Given the description of an element on the screen output the (x, y) to click on. 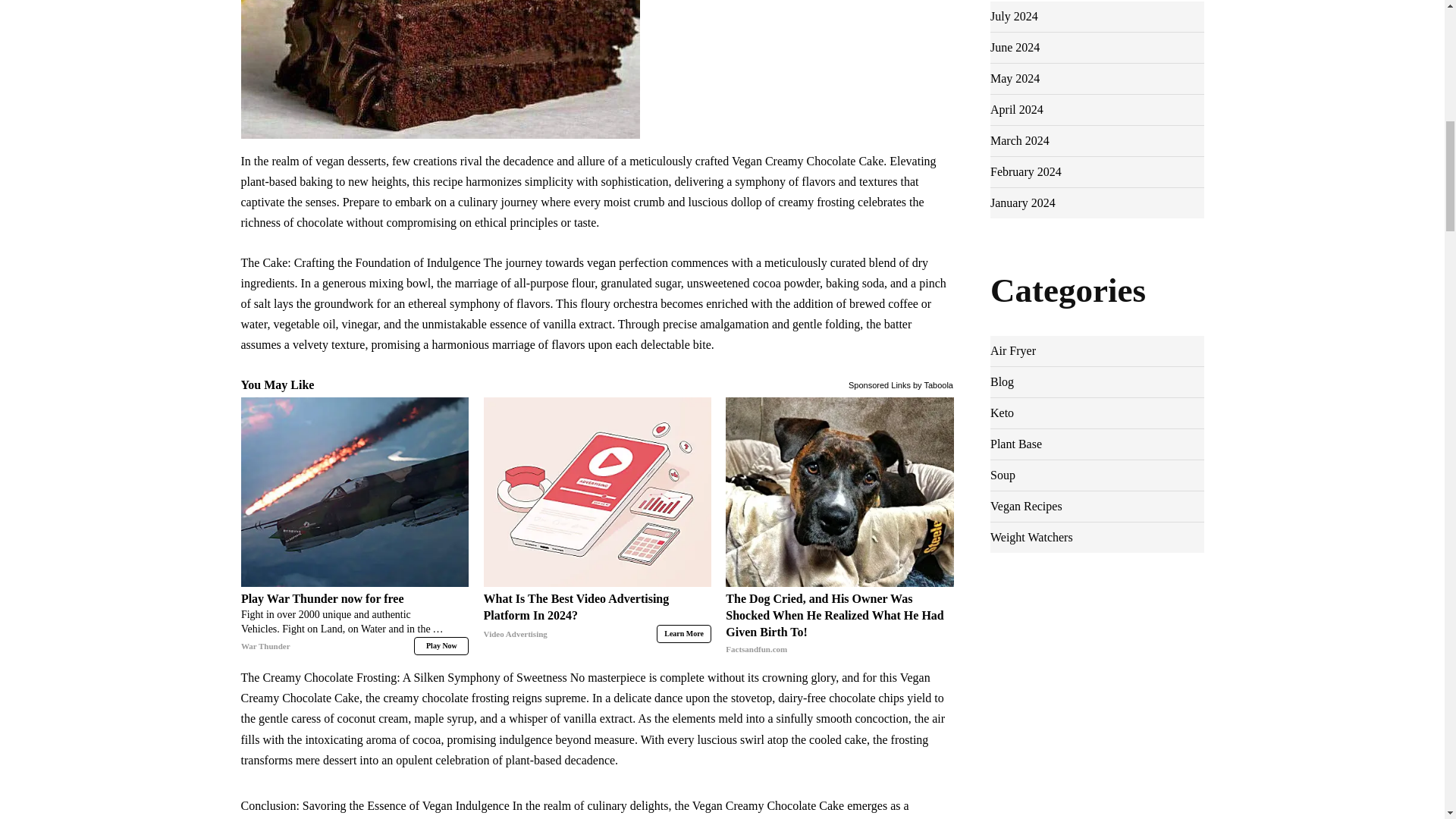
Play War Thunder now for free (354, 622)
Play War Thunder now for free (354, 492)
What Is The Best Video Advertising Platform In 2024? (597, 616)
What Is The Best Video Advertising Platform In 2024? (597, 492)
